Given the description of an element on the screen output the (x, y) to click on. 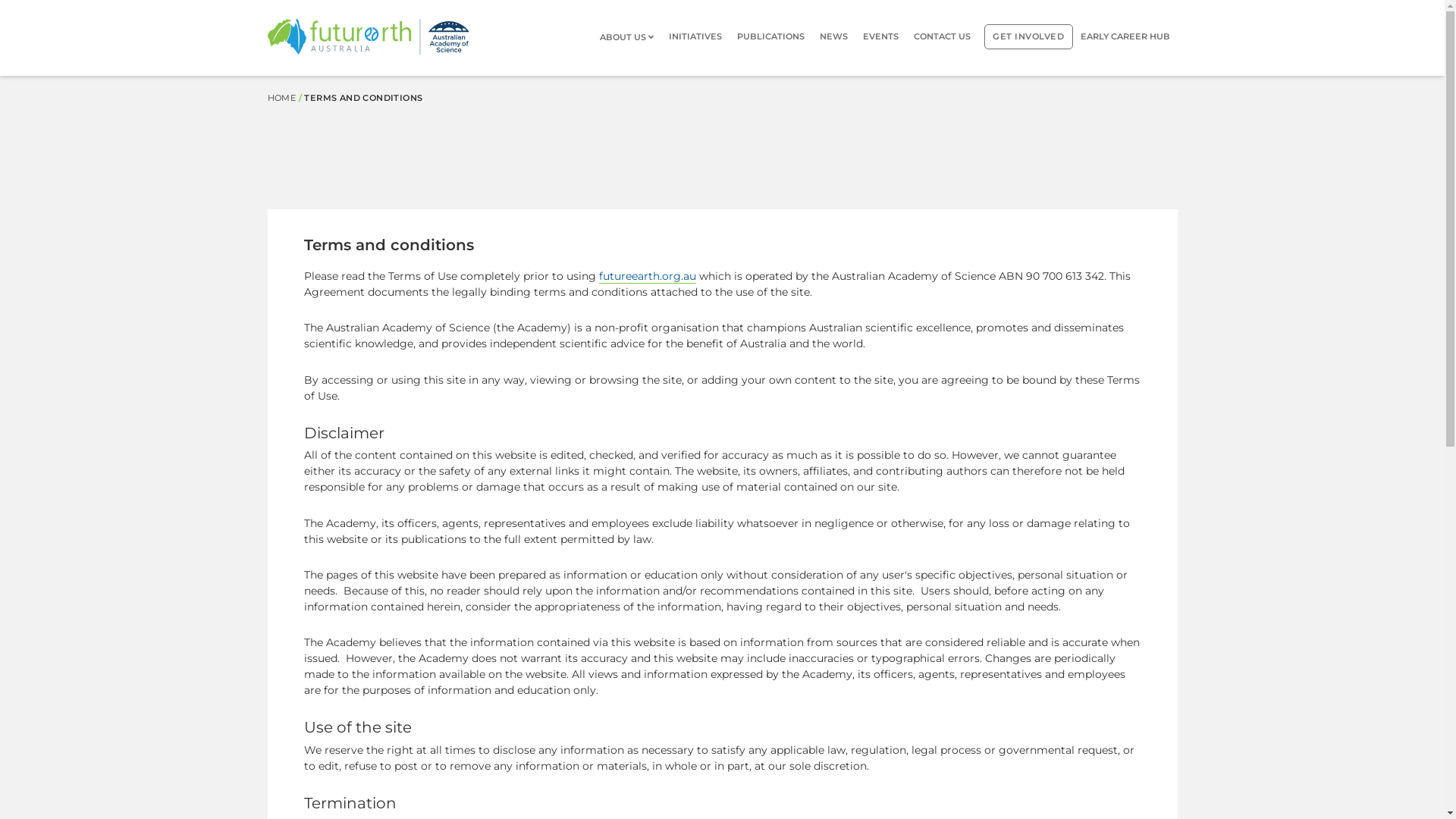
CONTACT US Element type: text (942, 36)
PUBLICATIONS Element type: text (770, 36)
Skip to main content Element type: text (0, 75)
INITIATIVES Element type: text (695, 36)
EVENTS Element type: text (880, 36)
HOME Element type: text (280, 97)
EARLY CAREER HUB Element type: text (1124, 36)
NEWS Element type: text (833, 36)
ABOUT US Element type: text (630, 37)
futureearth.org.au Element type: text (647, 276)
GET INVOLVED Element type: text (1028, 36)
